Given the description of an element on the screen output the (x, y) to click on. 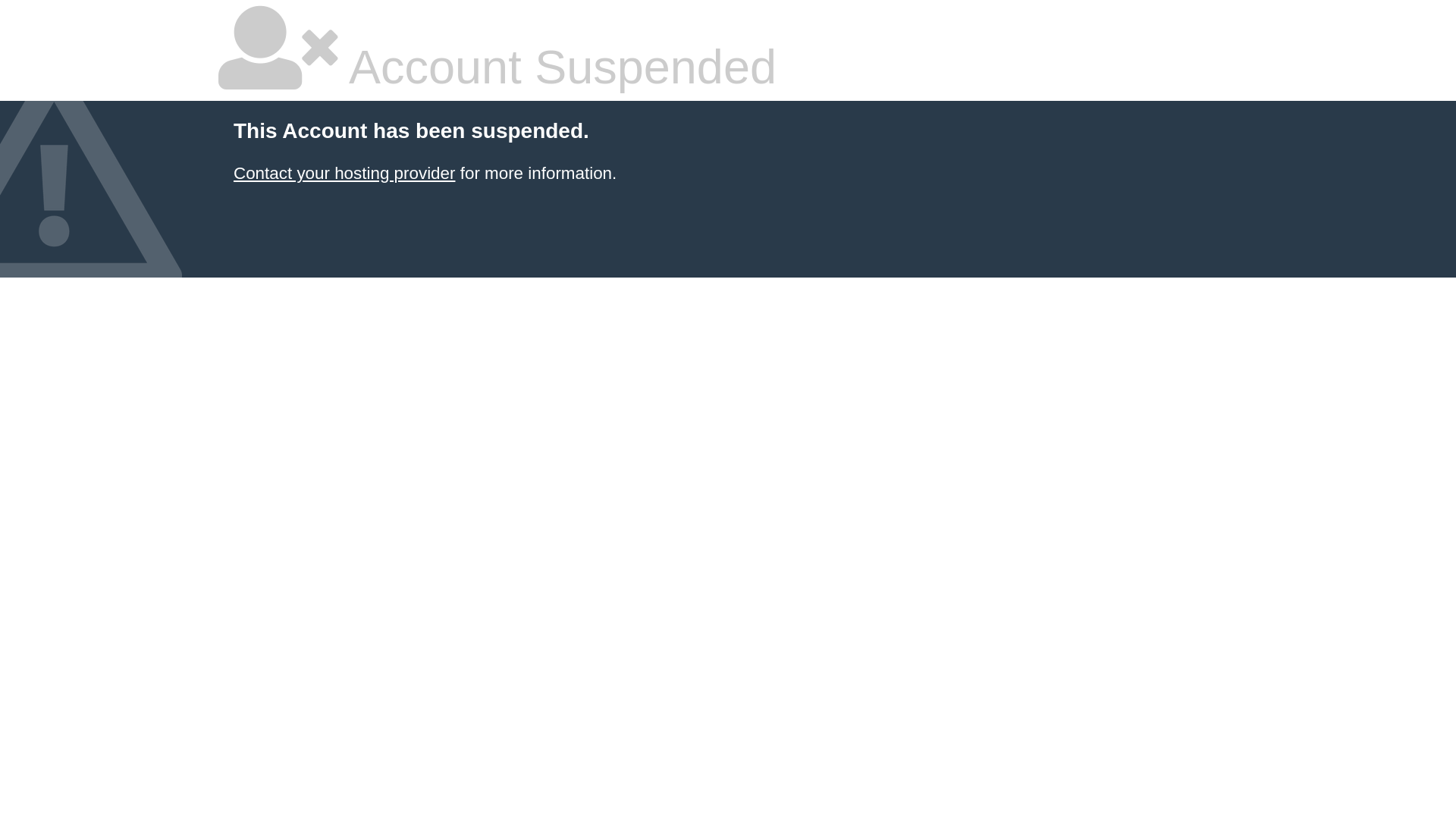
Contact your hosting provider Element type: text (344, 172)
